Given the description of an element on the screen output the (x, y) to click on. 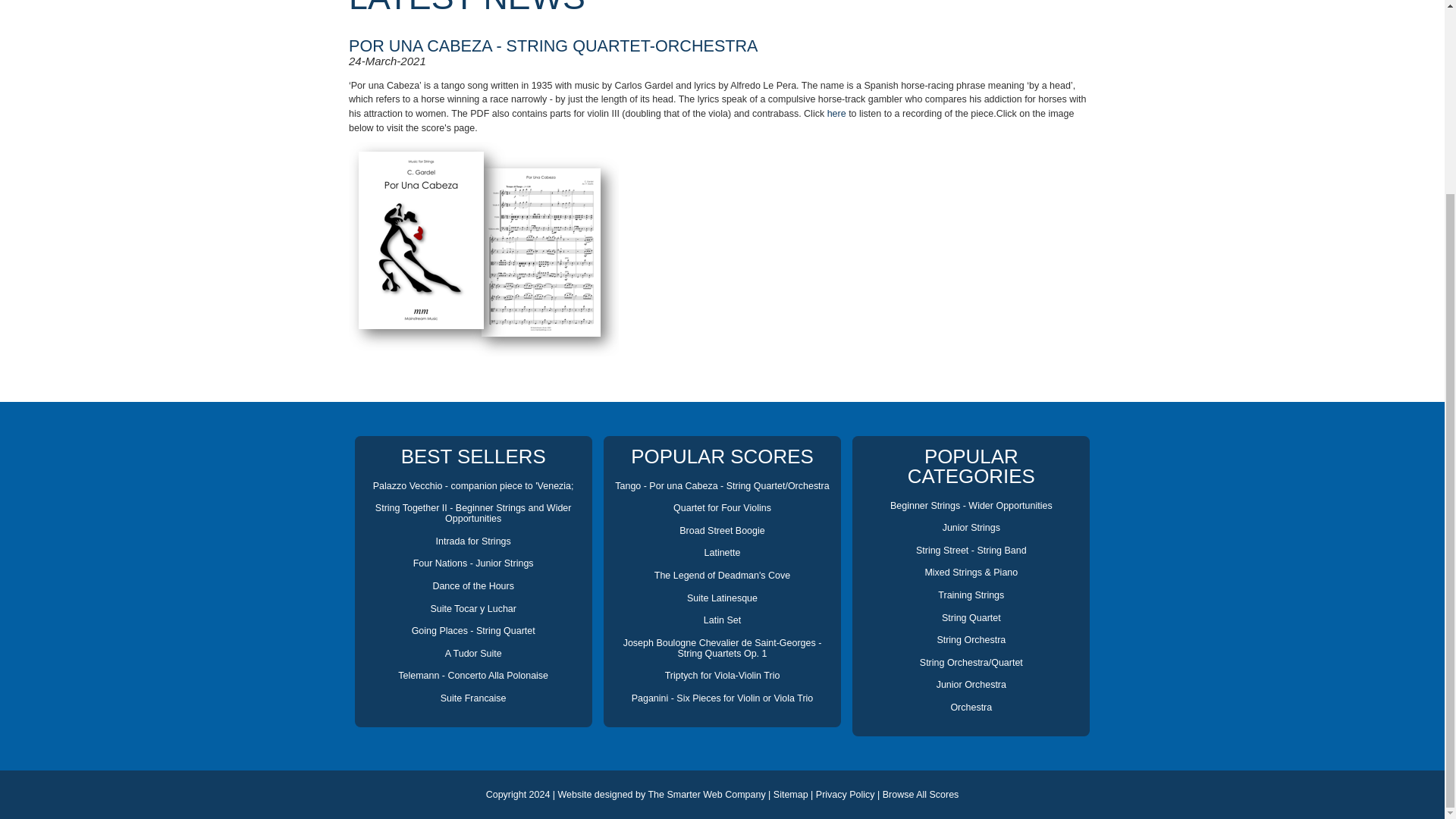
A Tudor Suite (473, 653)
Junior Strings (971, 527)
String Street - String Band (970, 550)
Quartet for Four Violins (721, 507)
The Smarter Web Company (706, 794)
The Smarter Web Company - Web Design (706, 794)
Orchestra (970, 706)
Triptych for Viola-Violin Trio (722, 675)
String Orchestra (971, 639)
Training Strings (970, 594)
Latin Set (722, 620)
Beginner Strings - Wider Opportunities (970, 505)
Intrada for Strings (473, 541)
Dance of the Hours (472, 585)
